Given the description of an element on the screen output the (x, y) to click on. 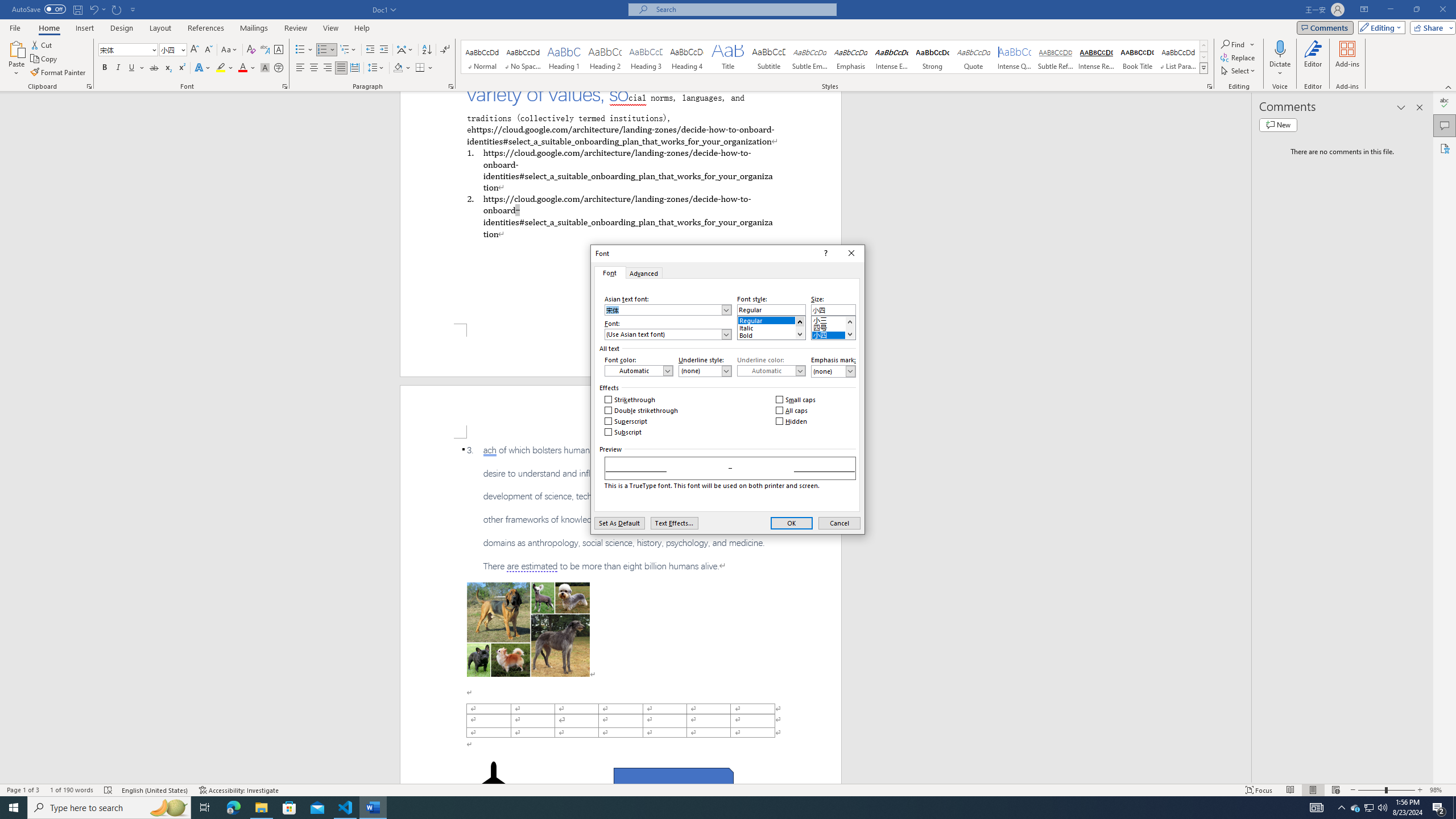
Title (727, 56)
Distributed (354, 67)
Emphasis (849, 56)
Clear Formatting (250, 49)
Font... (285, 85)
Character Border (278, 49)
Running applications (717, 807)
Language English (United States) (154, 790)
Page Number Page 1 of 3 (22, 790)
Microsoft search (742, 9)
